Given the description of an element on the screen output the (x, y) to click on. 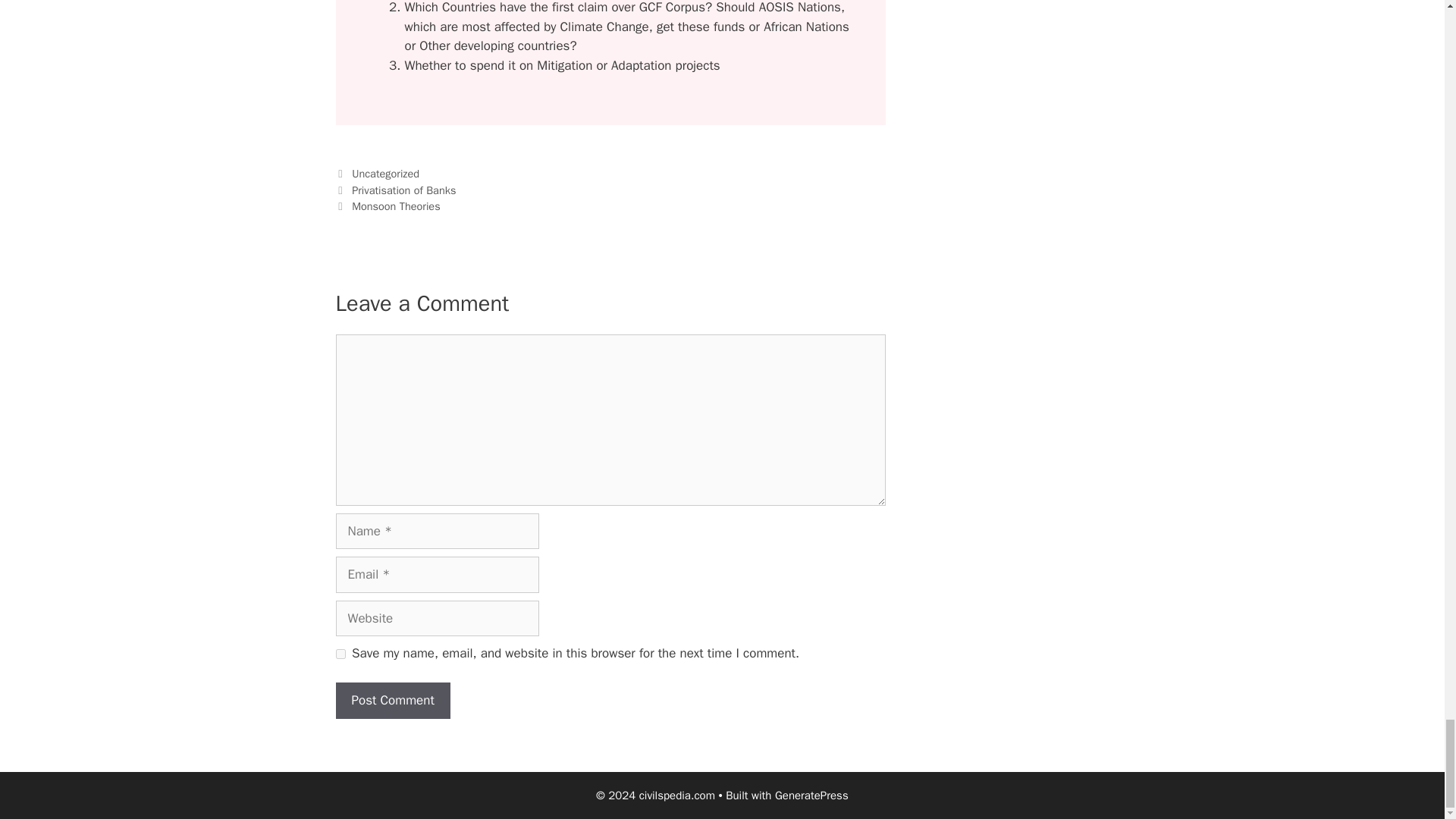
Previous (394, 190)
Post Comment (391, 700)
Monsoon Theories (396, 205)
GeneratePress (811, 795)
Uncategorized (385, 173)
Post Comment (391, 700)
yes (339, 654)
Privatisation of Banks (403, 190)
